Given the description of an element on the screen output the (x, y) to click on. 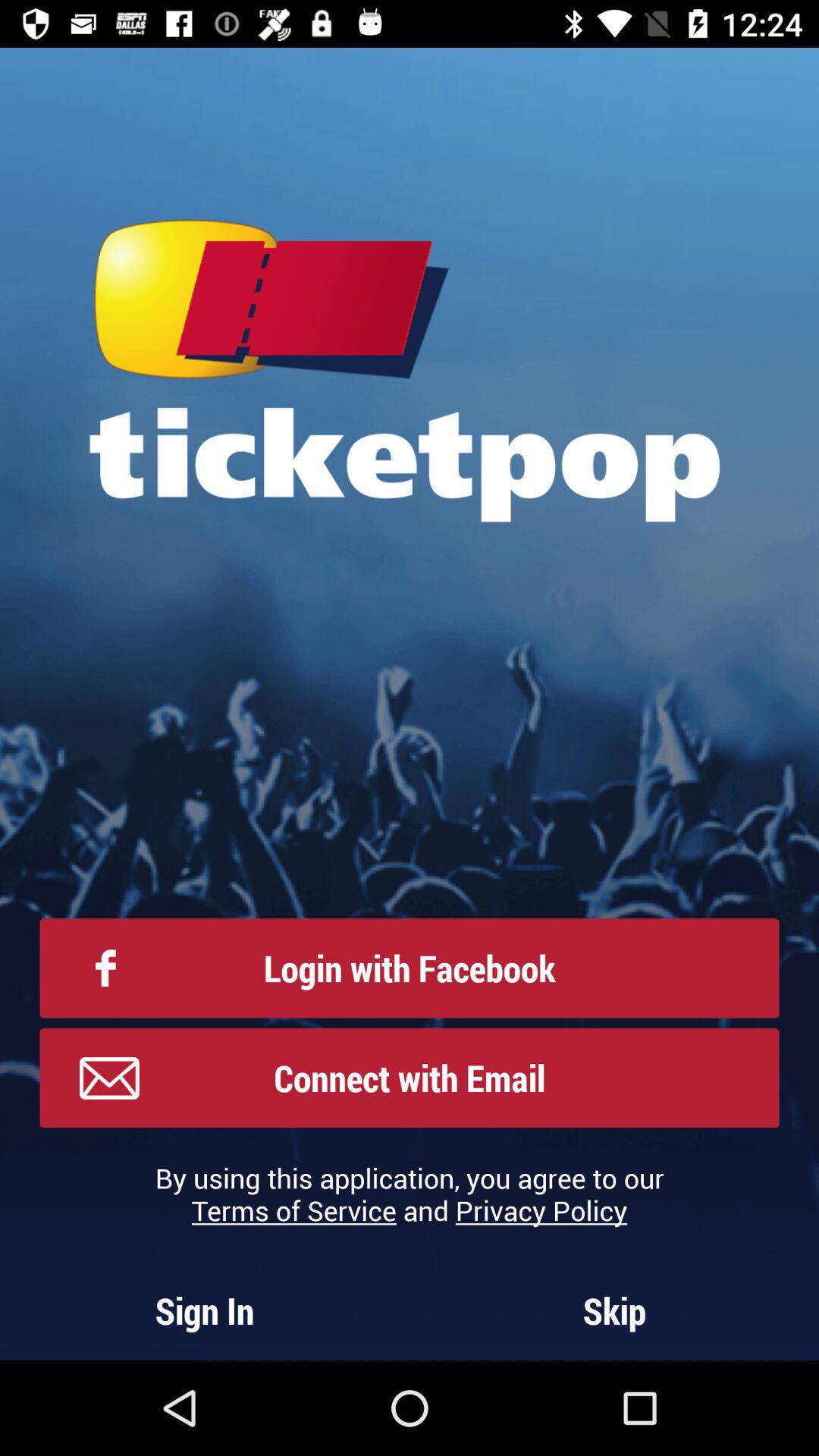
click icon below by using this item (614, 1310)
